Given the description of an element on the screen output the (x, y) to click on. 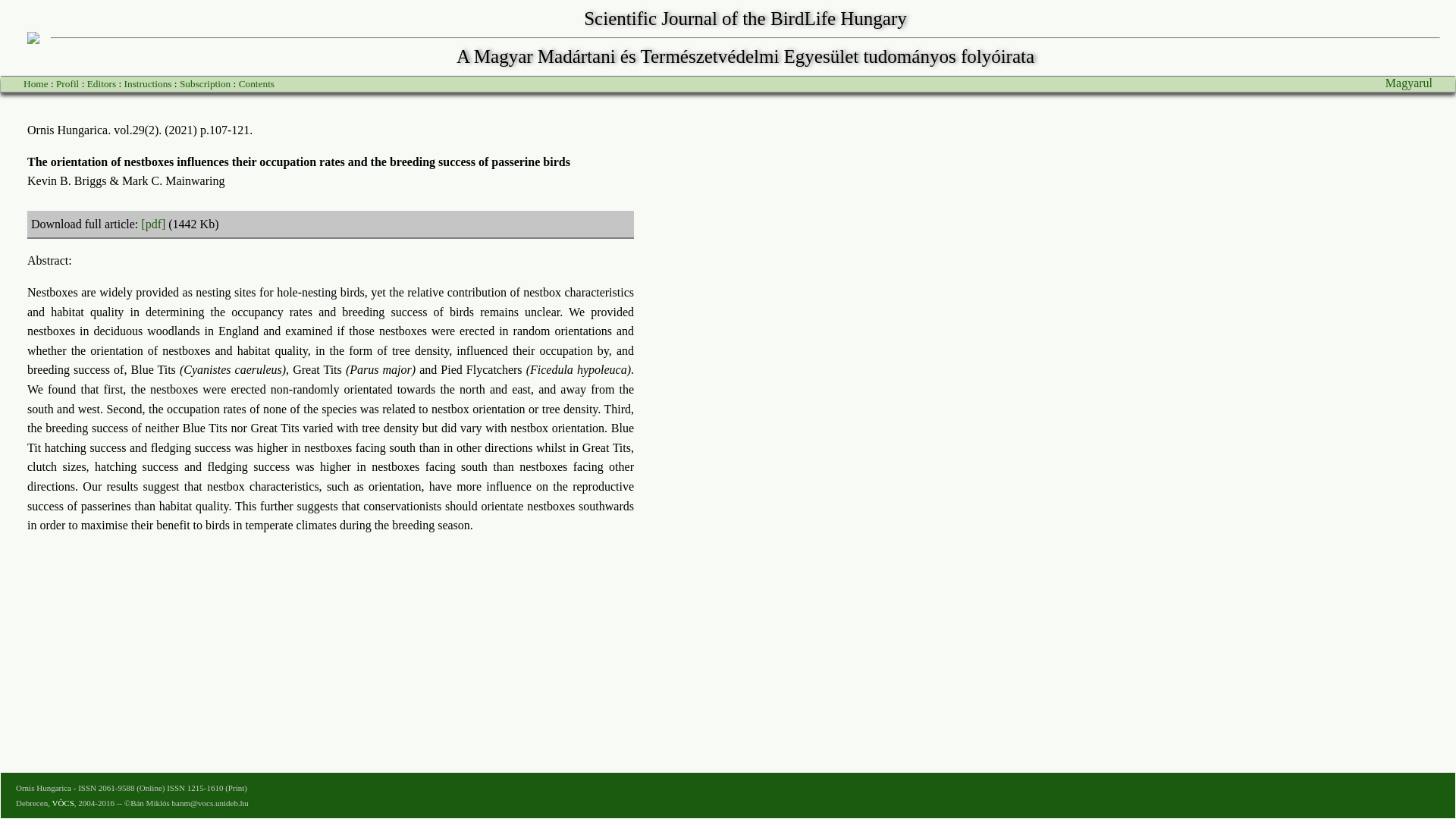
Subscription (204, 83)
Home (35, 83)
Contents (256, 83)
Profil (67, 83)
Instructions (147, 83)
Editors (101, 83)
Magyarul (1409, 82)
